Given the description of an element on the screen output the (x, y) to click on. 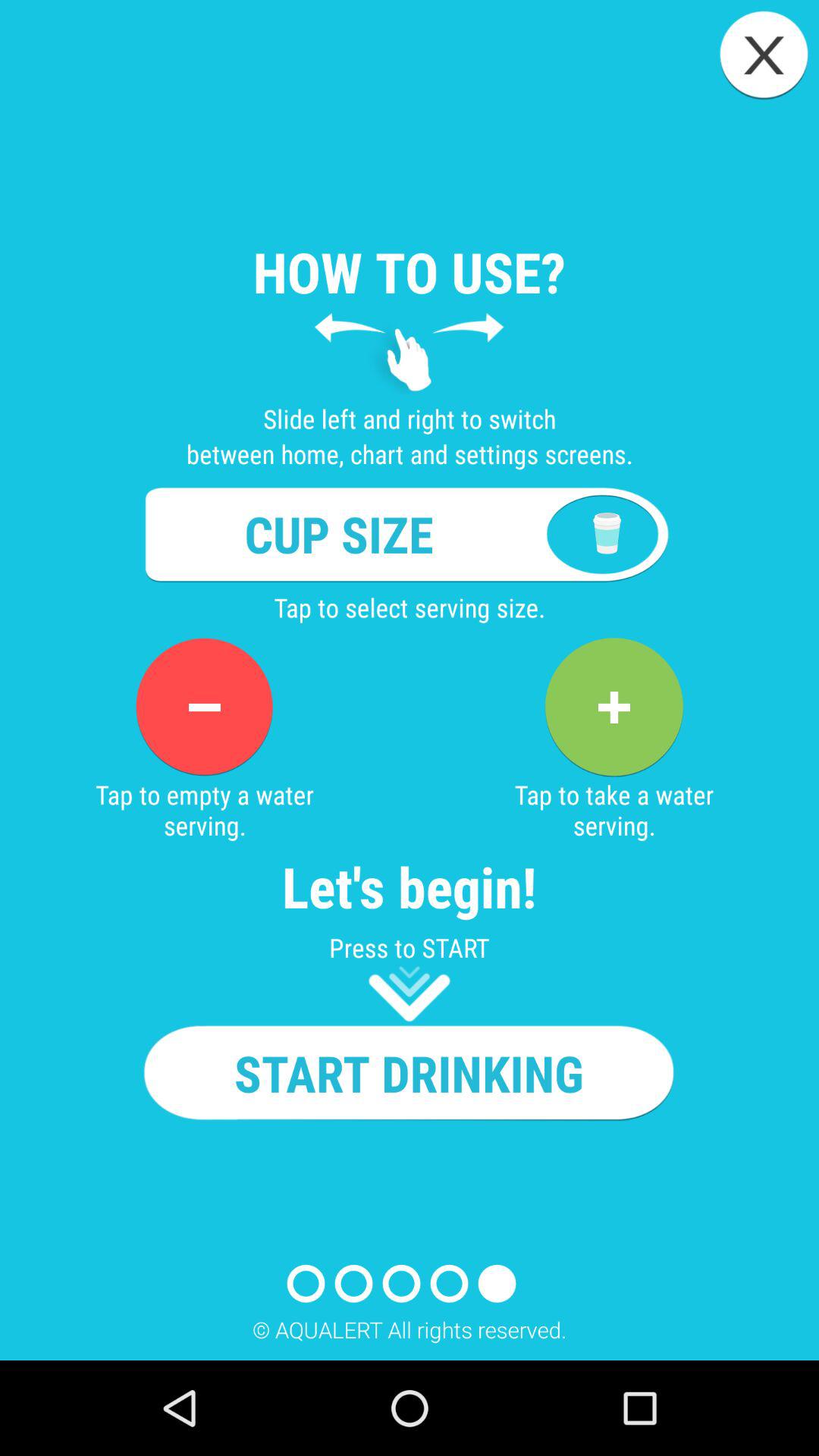
launch the item above tap to take icon (613, 706)
